Given the description of an element on the screen output the (x, y) to click on. 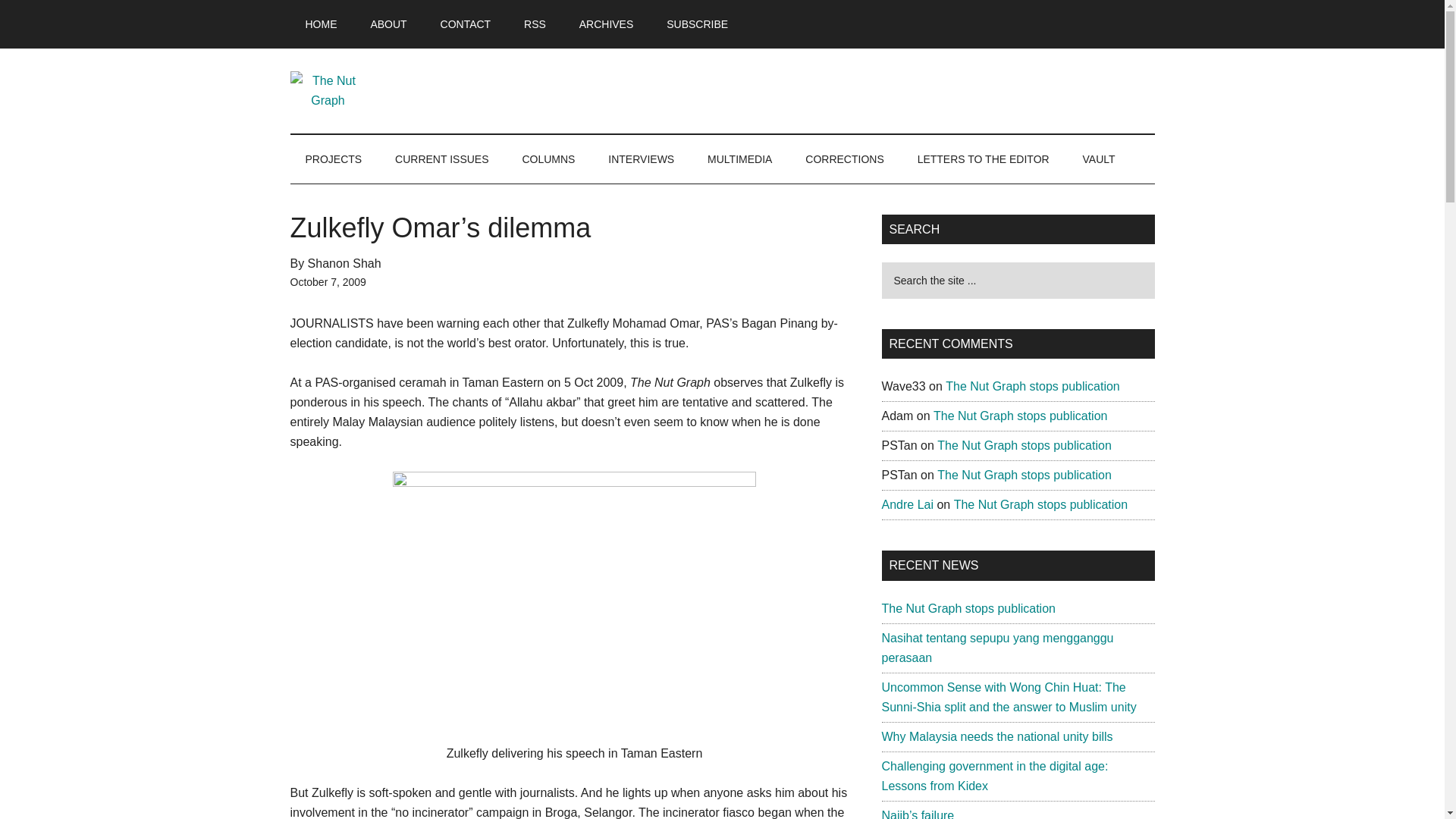
PROJECTS (333, 159)
RSS (534, 24)
INTERVIEWS (640, 159)
SUBSCRIBE (696, 24)
HOME (320, 24)
MULTIMEDIA (740, 159)
ABOUT (388, 24)
LETTERS TO THE EDITOR (983, 159)
VAULT (1099, 159)
